Given the description of an element on the screen output the (x, y) to click on. 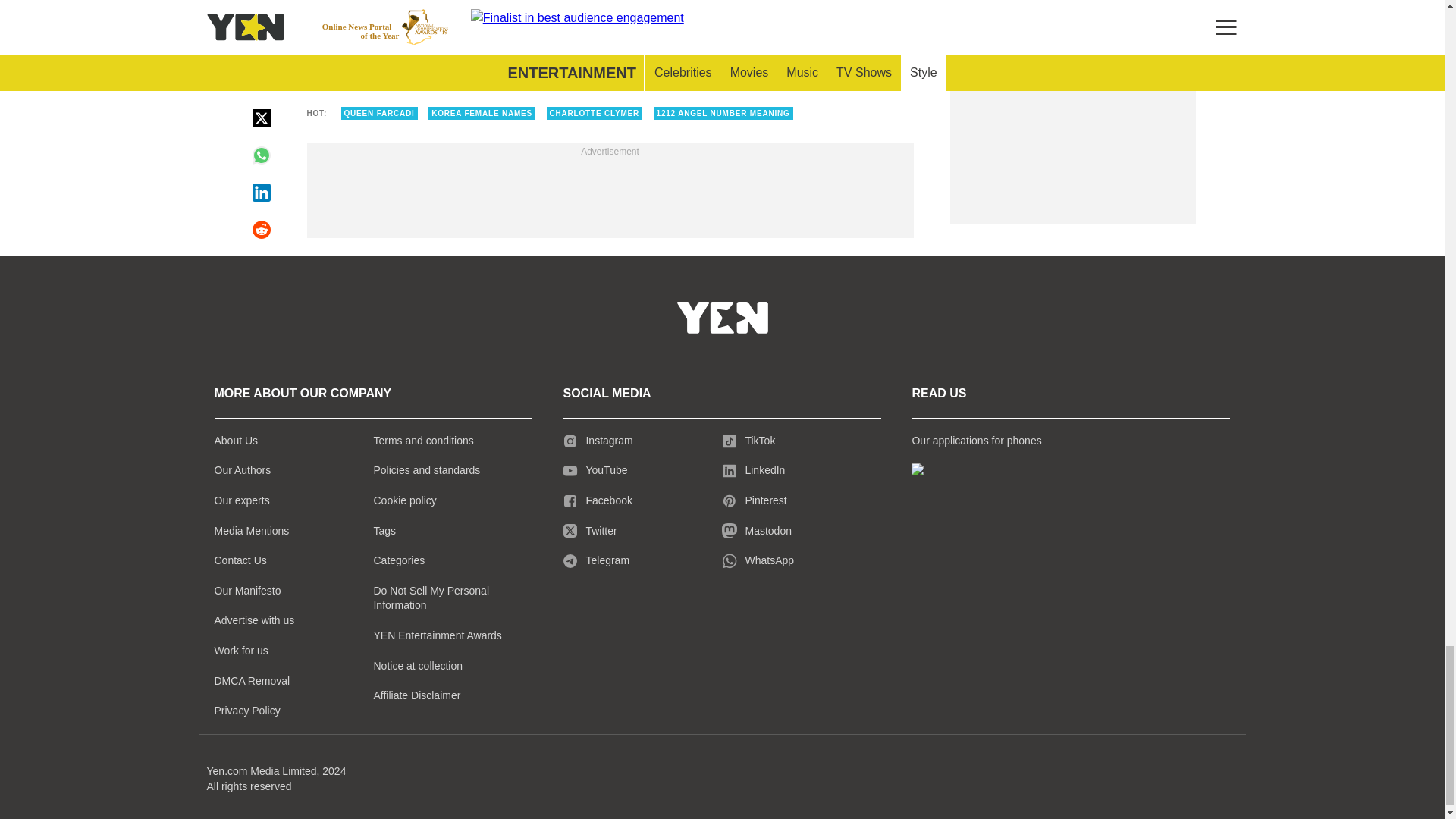
Author page (533, 28)
